Given the description of an element on the screen output the (x, y) to click on. 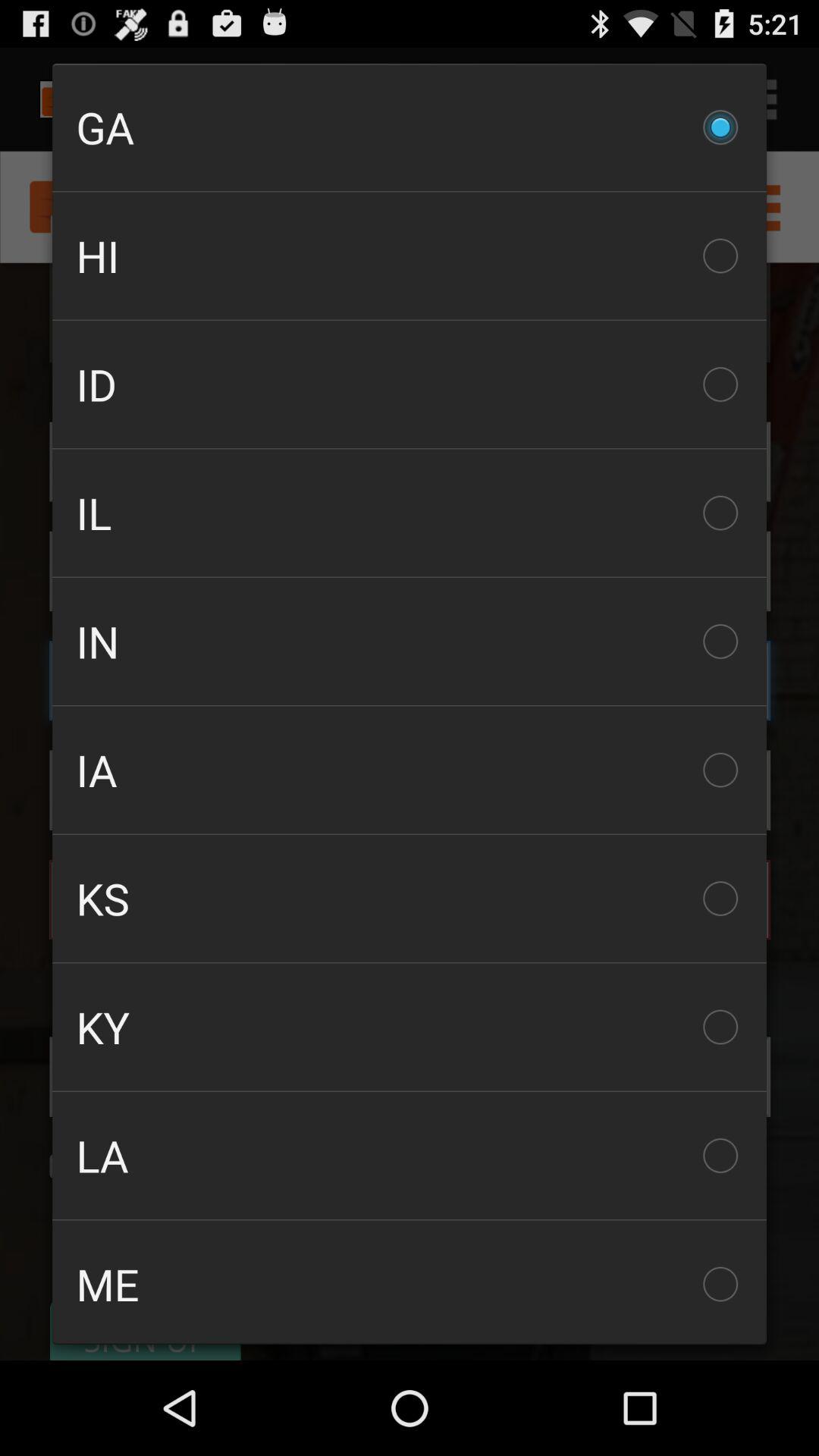
swipe to ky checkbox (409, 1026)
